Given the description of an element on the screen output the (x, y) to click on. 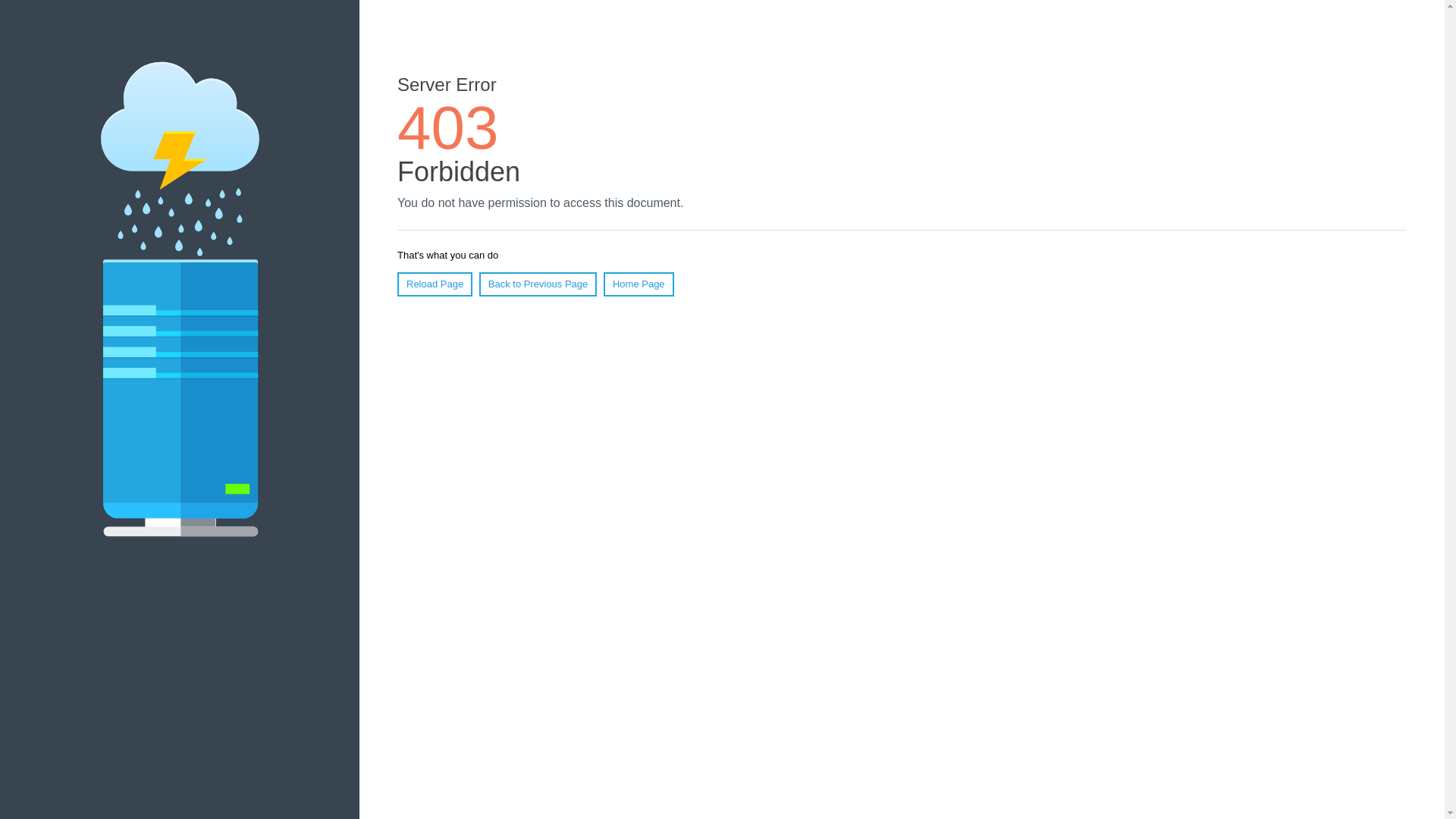
Home Page Element type: text (638, 284)
Back to Previous Page Element type: text (538, 284)
Reload Page Element type: text (434, 284)
